Given the description of an element on the screen output the (x, y) to click on. 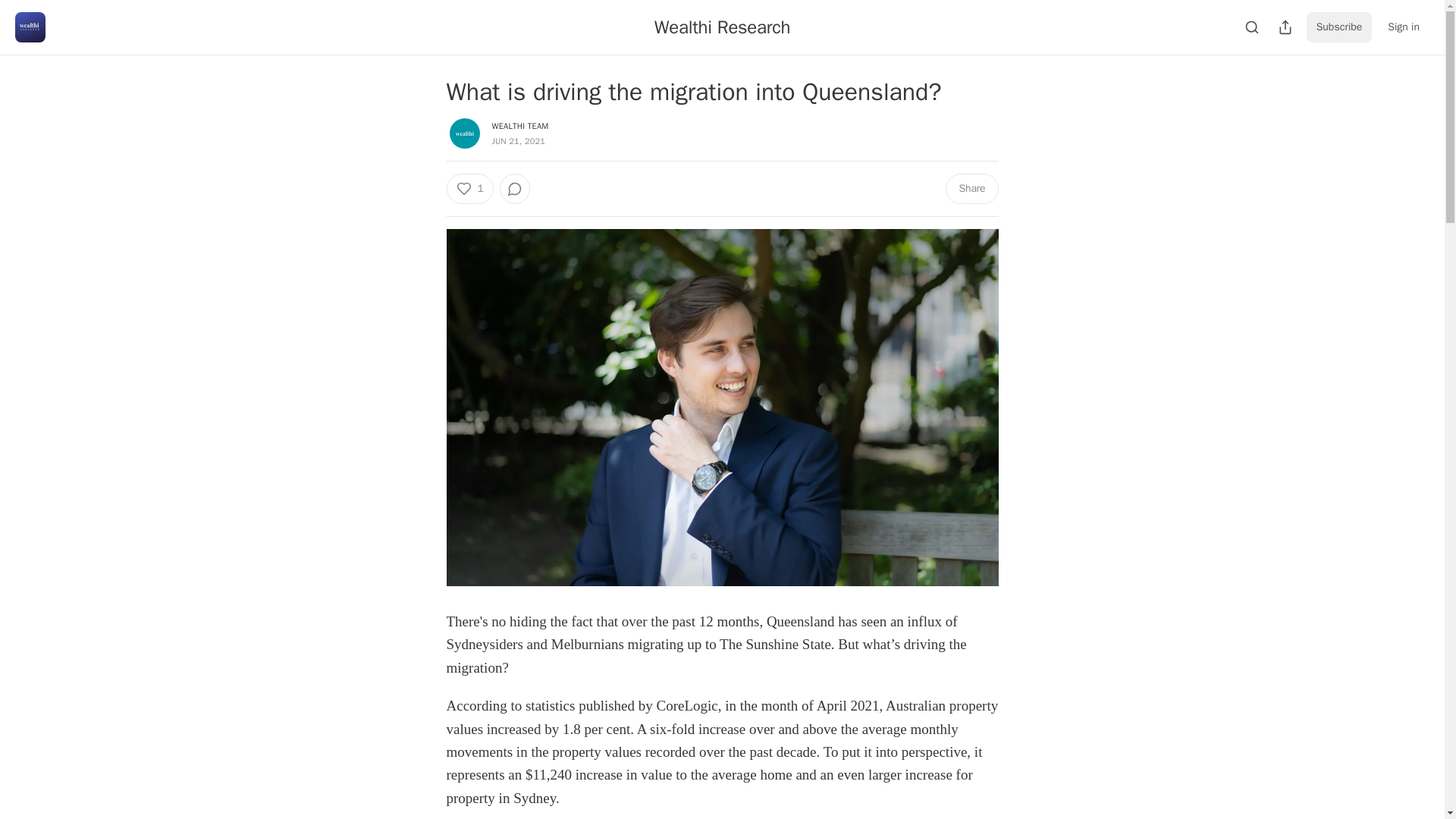
WEALTHI TEAM (520, 125)
Sign in (1403, 27)
Share (970, 188)
Subscribe (1339, 27)
Wealthi Research (721, 26)
1 (469, 188)
